Given the description of an element on the screen output the (x, y) to click on. 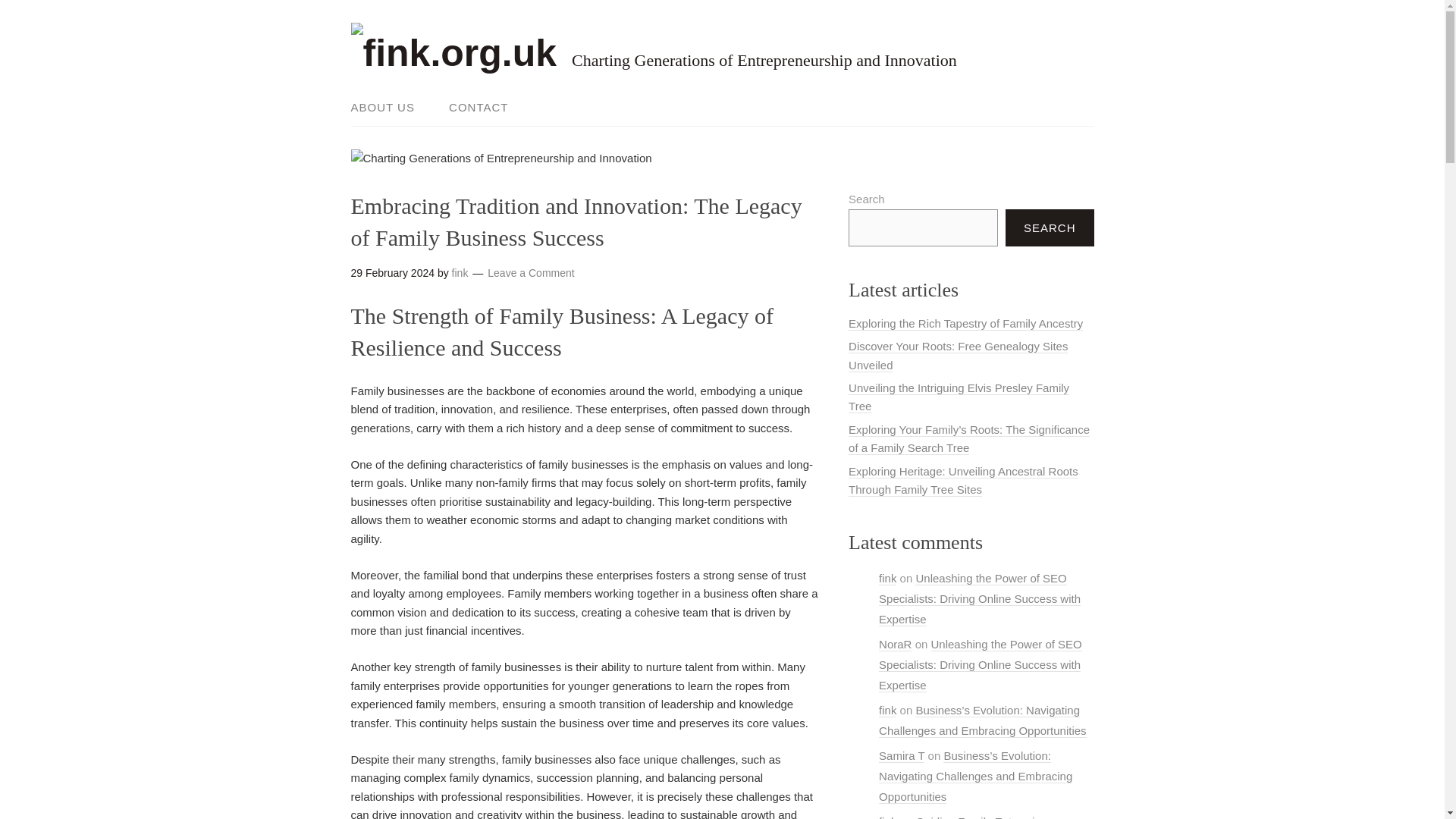
SEARCH (1050, 227)
Thursday, February 29, 2024, 12:36 pm (391, 272)
ABOUT US (389, 107)
fink (459, 272)
CONTACT (470, 107)
Posts by fink (459, 272)
Exploring the Rich Tapestry of Family Ancestry (965, 323)
fink.org.uk (453, 52)
Leave a Comment (530, 272)
